Given the description of an element on the screen output the (x, y) to click on. 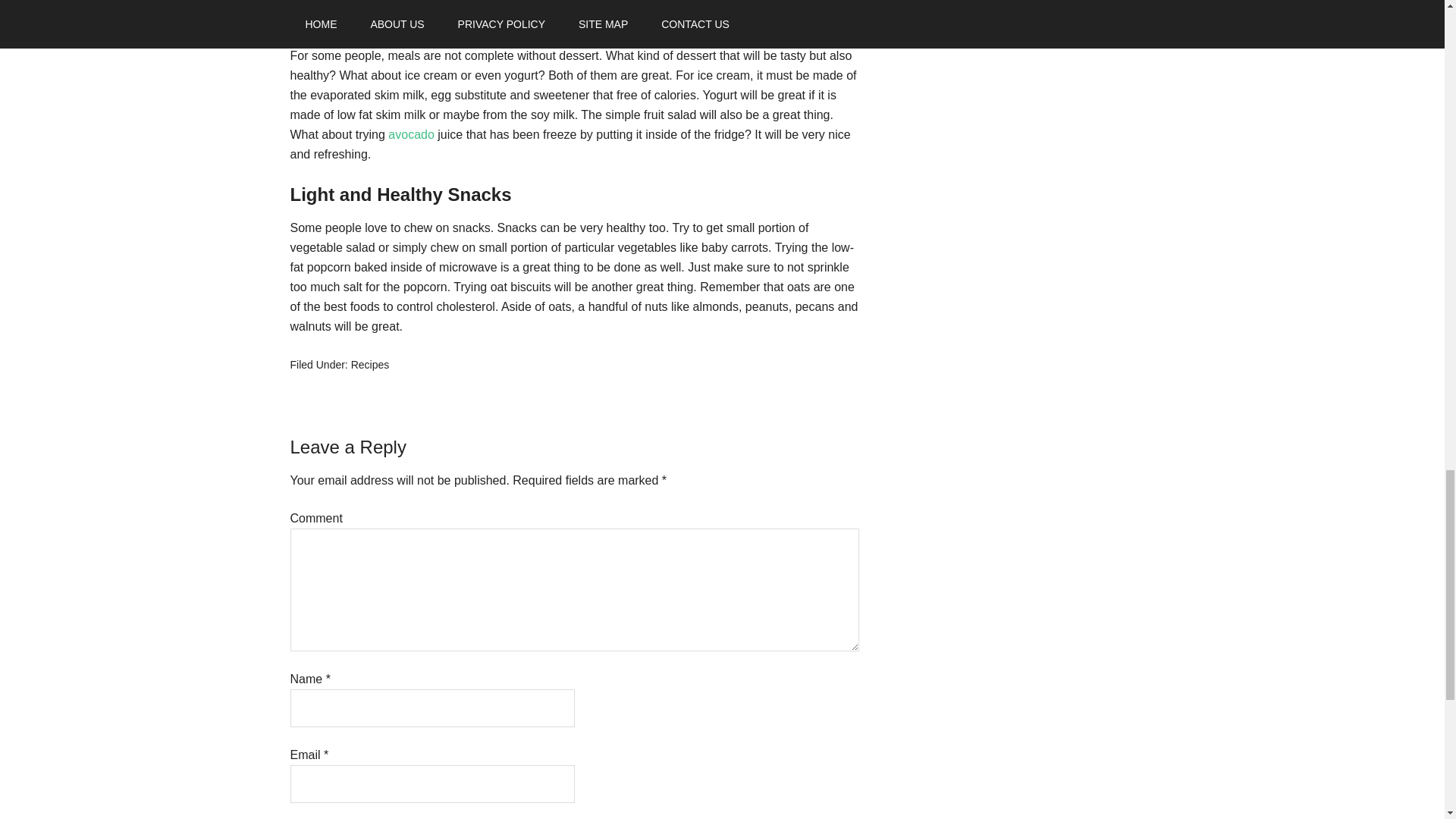
avocado (413, 133)
Recipes (370, 364)
